Given the description of an element on the screen output the (x, y) to click on. 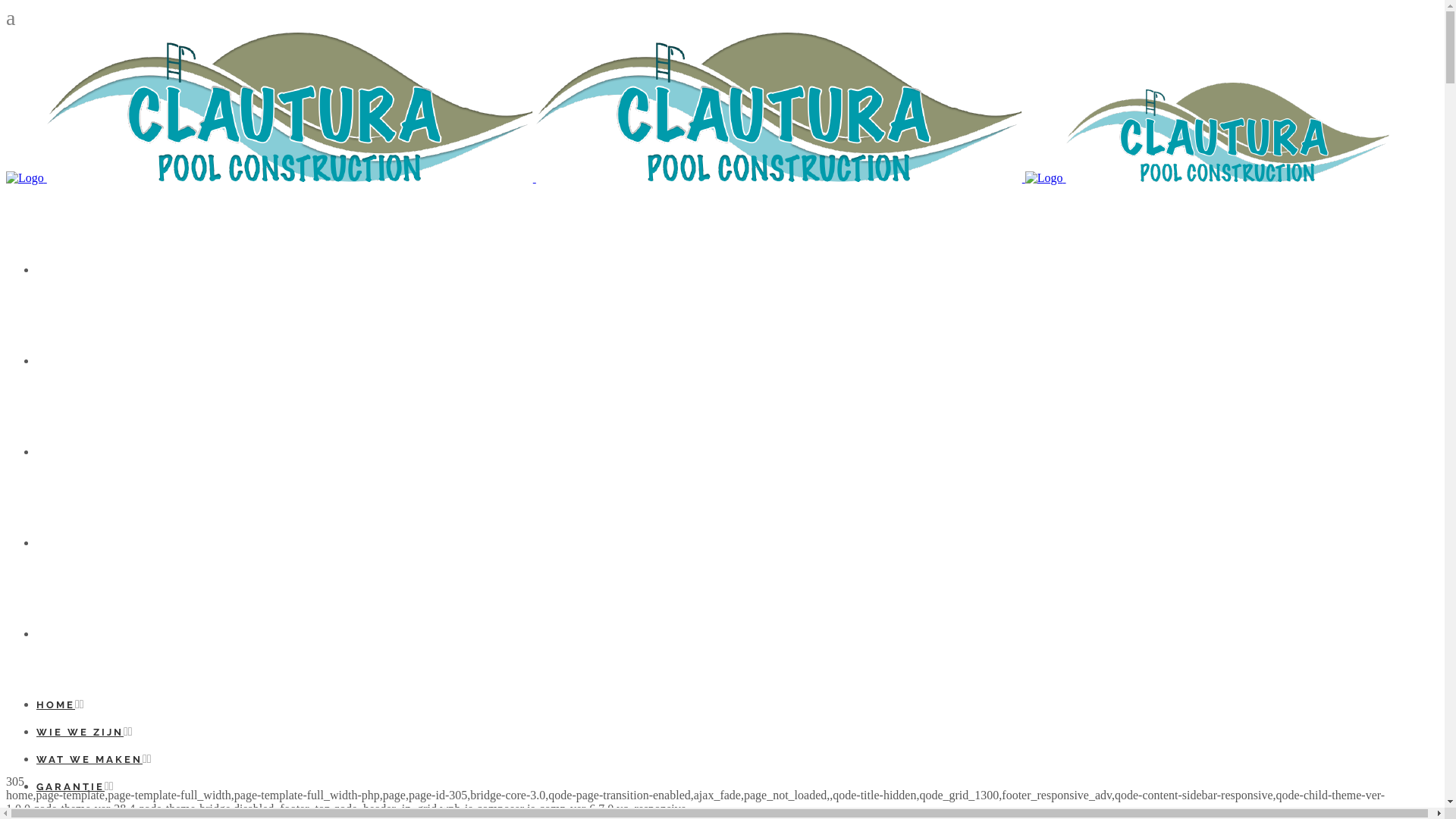
WIE WE ZIJN Element type: text (79, 731)
HOME Element type: text (55, 704)
Wie We Zijn Element type: text (82, 360)
WAT WE MAKEN Element type: text (89, 759)
GARANTIE Element type: text (70, 786)
Contacteer Ons Element type: text (93, 633)
Wat We Maken Element type: text (91, 451)
Home Element type: text (56, 269)
Garantie Element type: text (69, 542)
